Given the description of an element on the screen output the (x, y) to click on. 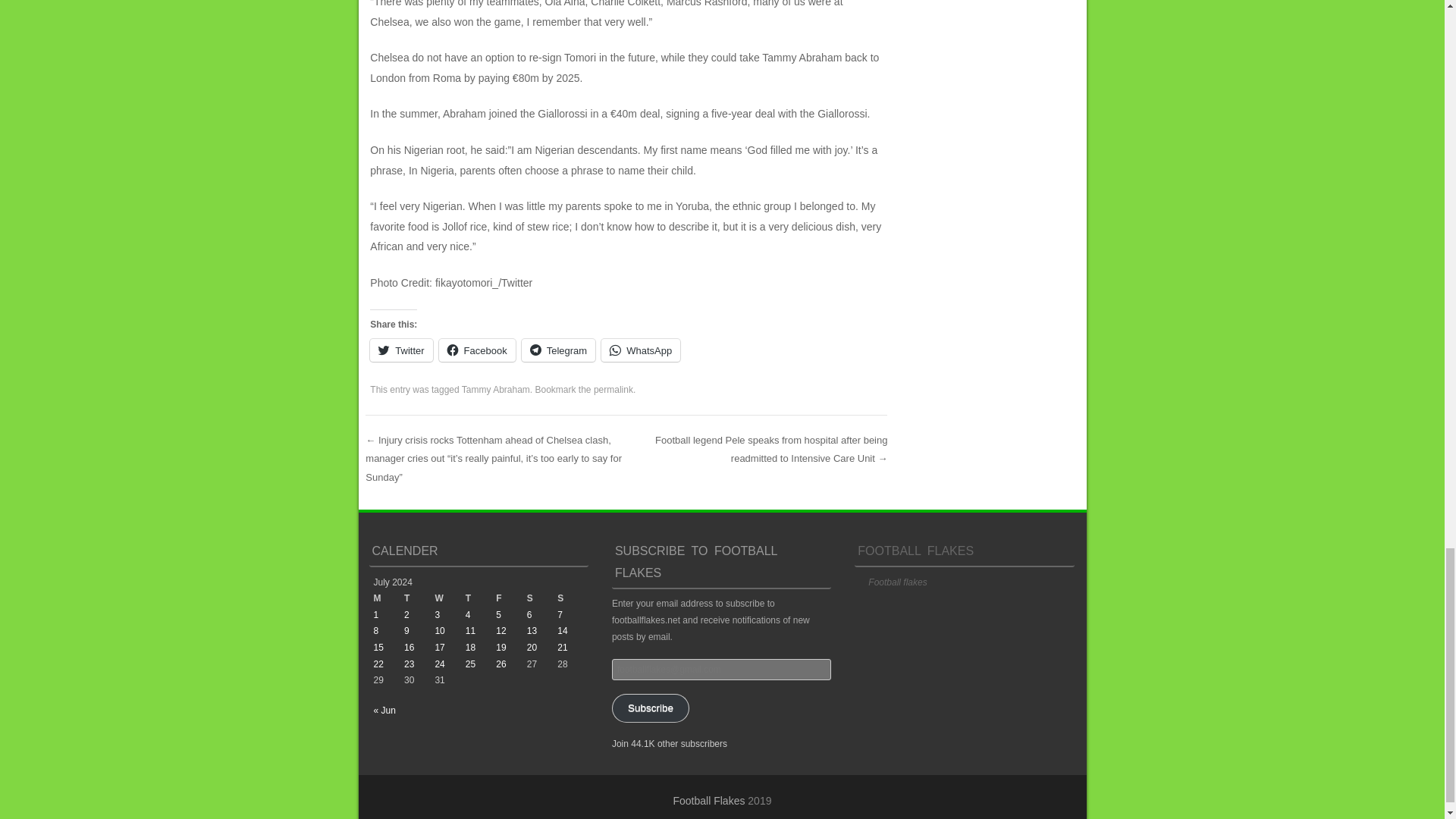
Twitter (400, 350)
Click to share on Twitter (400, 350)
Sunday (572, 598)
Telegram (558, 350)
permalink (613, 389)
Monday (387, 598)
WhatsApp (640, 350)
Saturday (542, 598)
Tammy Abraham (495, 389)
Tuesday (418, 598)
Click to share on Telegram (558, 350)
Click to share on WhatsApp (640, 350)
Facebook (477, 350)
Click to share on Facebook (477, 350)
Wednesday (448, 598)
